Given the description of an element on the screen output the (x, y) to click on. 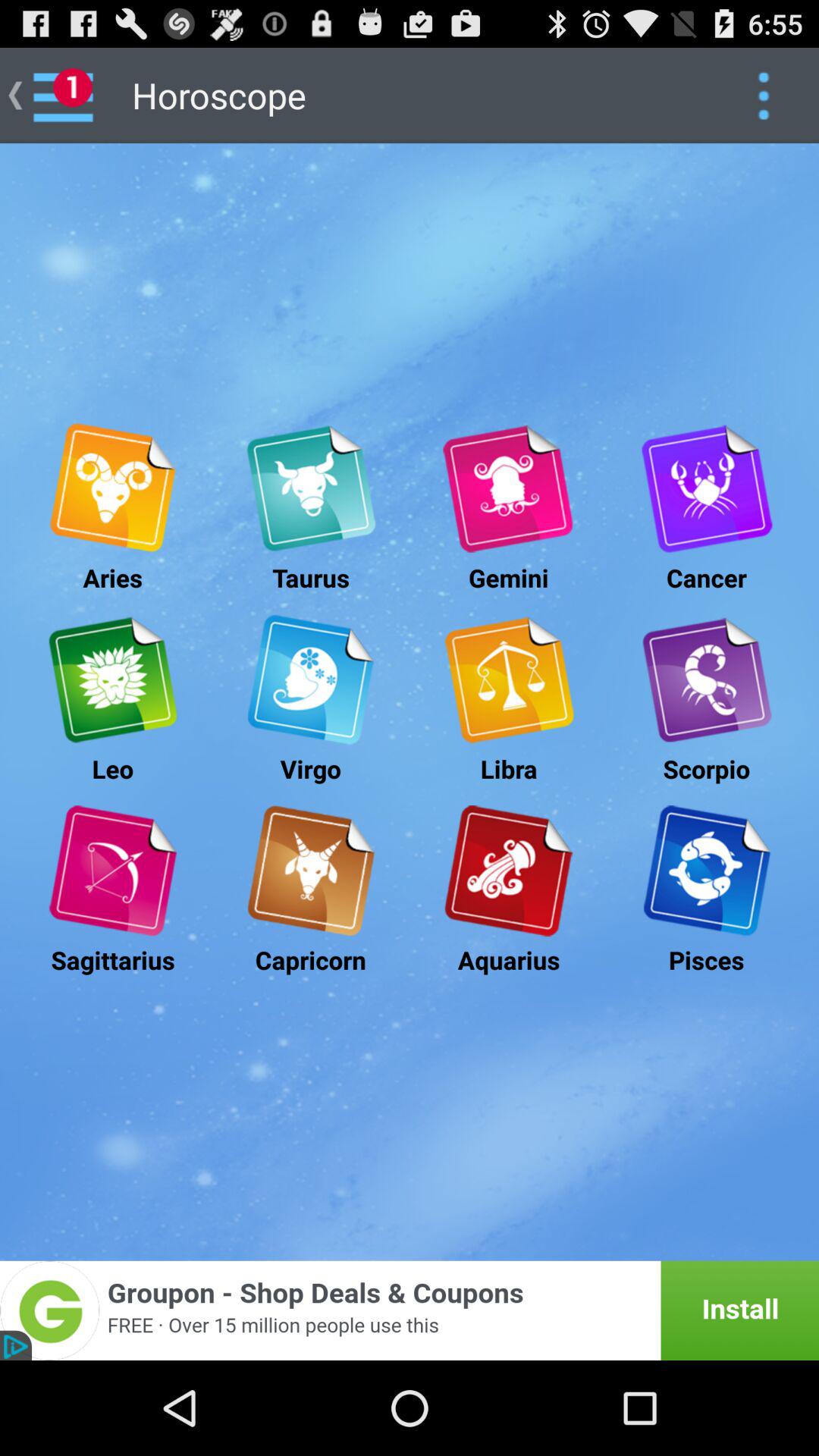
google control button (763, 95)
